Given the description of an element on the screen output the (x, y) to click on. 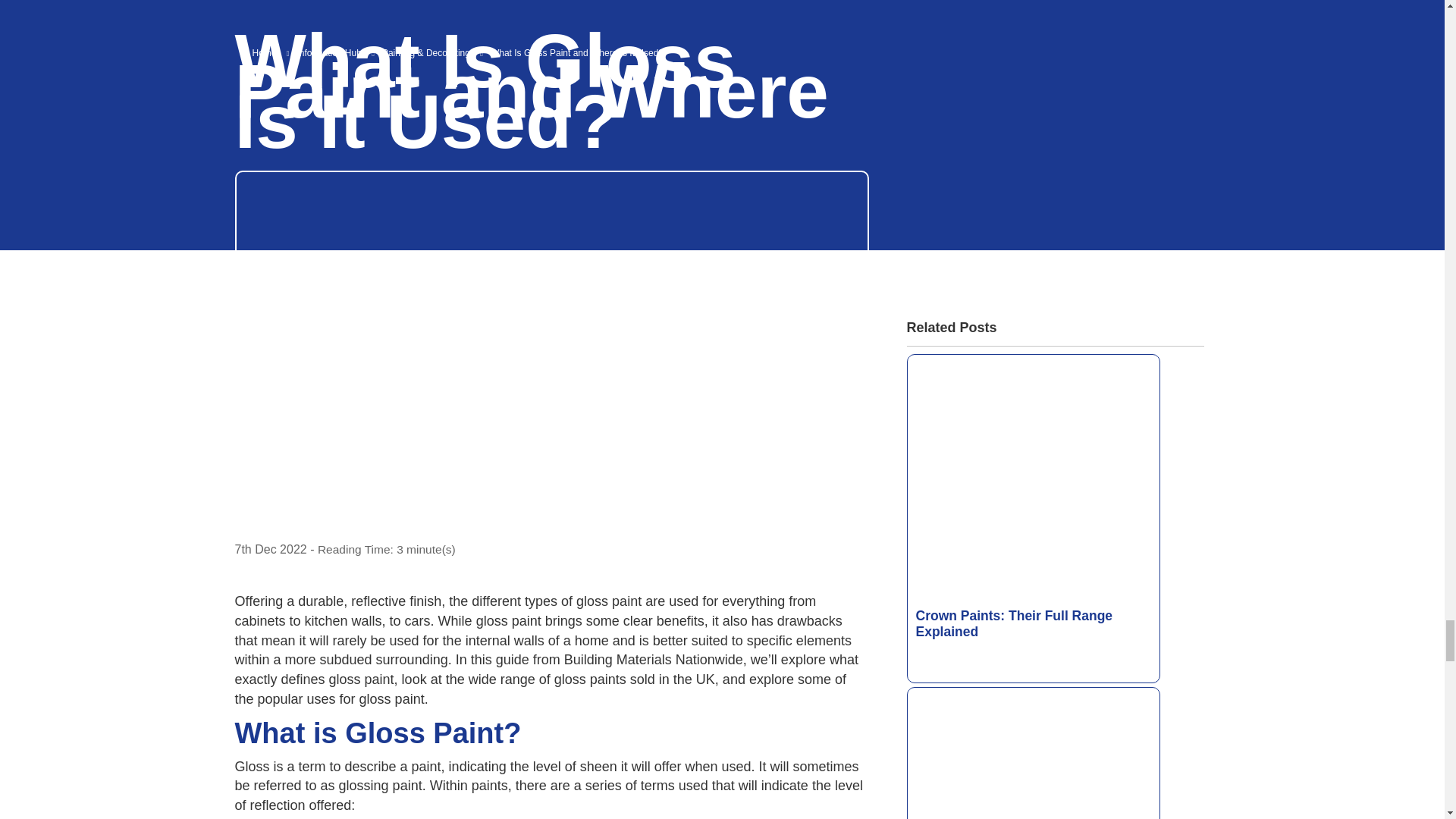
Go to Home Page (264, 52)
Go to Information Hub Page (331, 52)
What Is Gloss Paint and Where Is It Used? (551, 799)
